Given the description of an element on the screen output the (x, y) to click on. 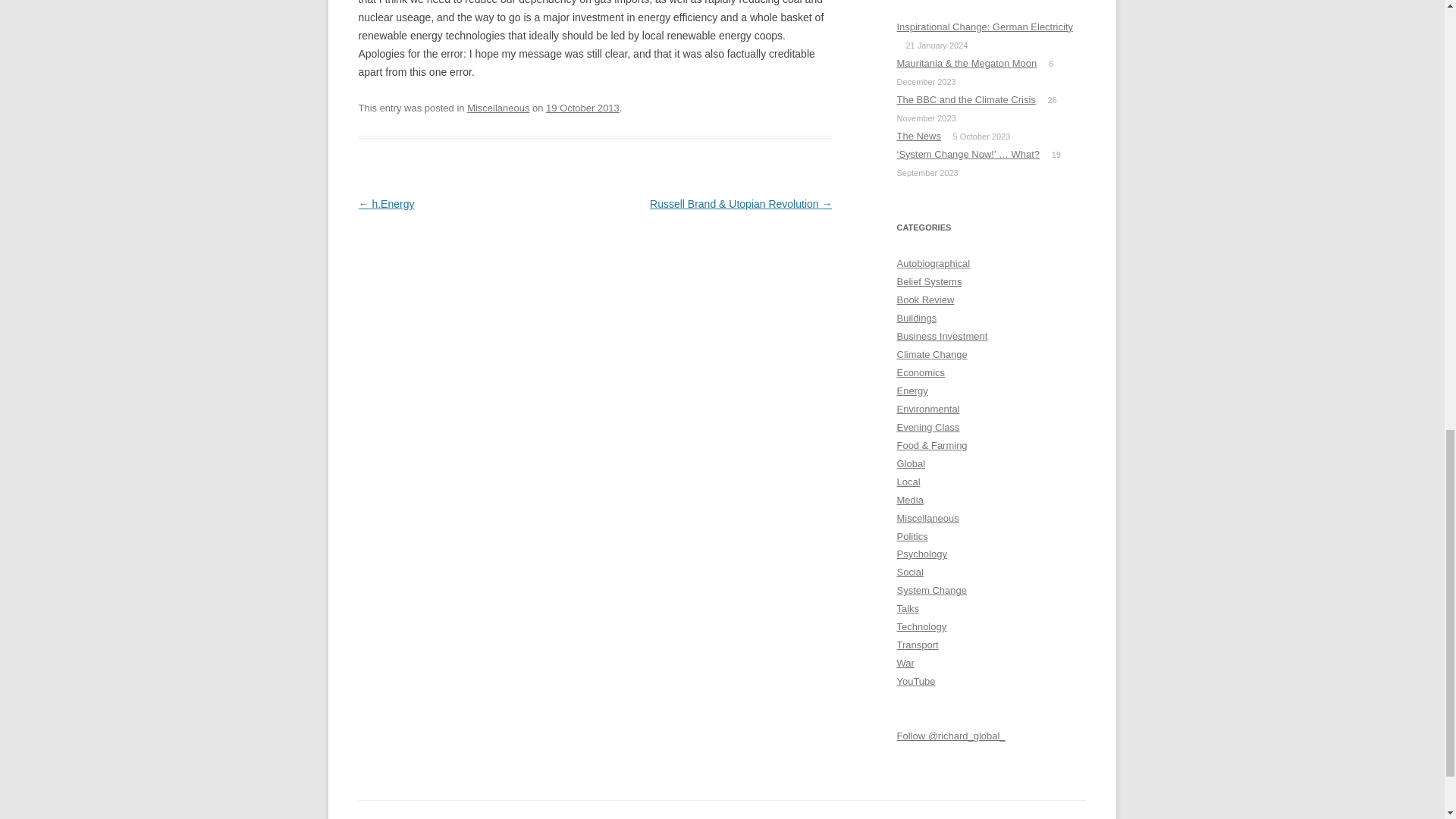
Global (910, 463)
Buildings (916, 317)
The News (918, 135)
Media (909, 500)
Environmental (927, 408)
Psychology (921, 553)
Miscellaneous (498, 107)
The BBC and the Climate Crisis (965, 99)
Politics (911, 536)
Miscellaneous (927, 518)
19 October 2013 (583, 107)
Belief Systems (928, 281)
Local (908, 481)
Autobiographical (932, 263)
Climate Change (931, 354)
